Given the description of an element on the screen output the (x, y) to click on. 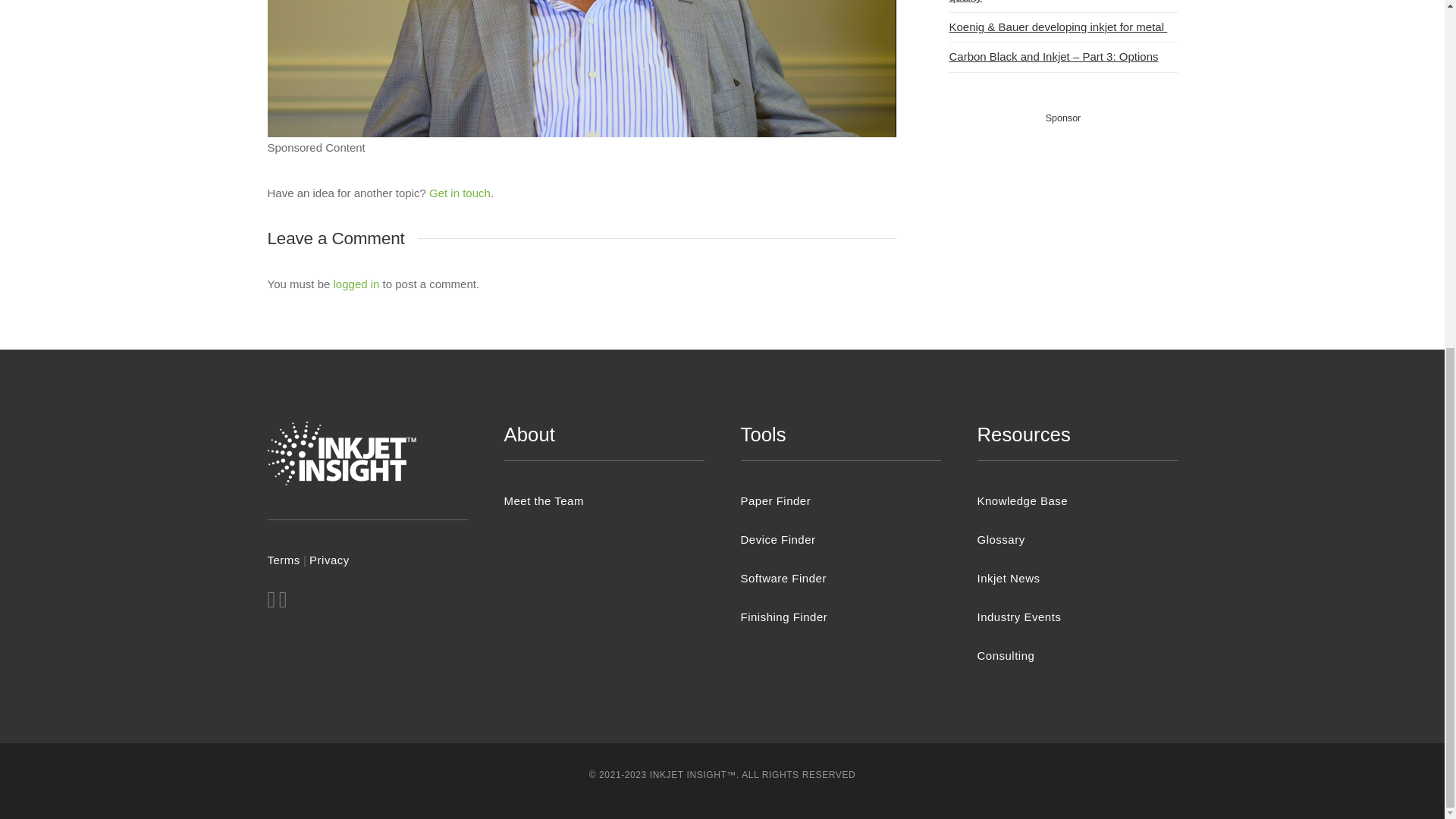
Follow us on Twitter (270, 603)
